Given the description of an element on the screen output the (x, y) to click on. 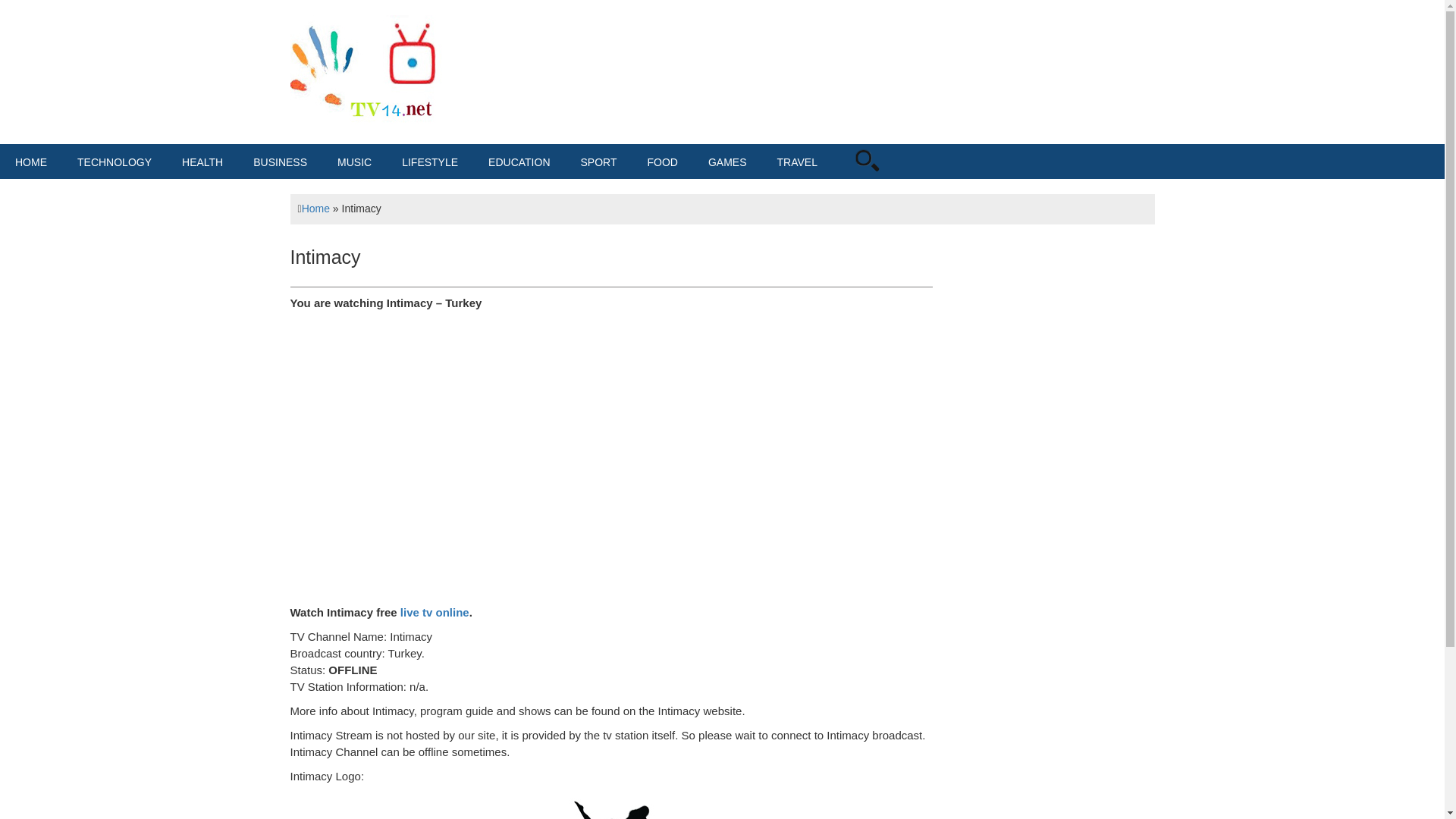
MUSIC (354, 162)
Search (887, 179)
FOOD (662, 162)
SPORT (598, 162)
Advertisement (776, 64)
LIFESTYLE (430, 162)
HEALTH (202, 162)
TECHNOLOGY (114, 162)
TRAVEL (796, 162)
GAMES (727, 162)
